Given the description of an element on the screen output the (x, y) to click on. 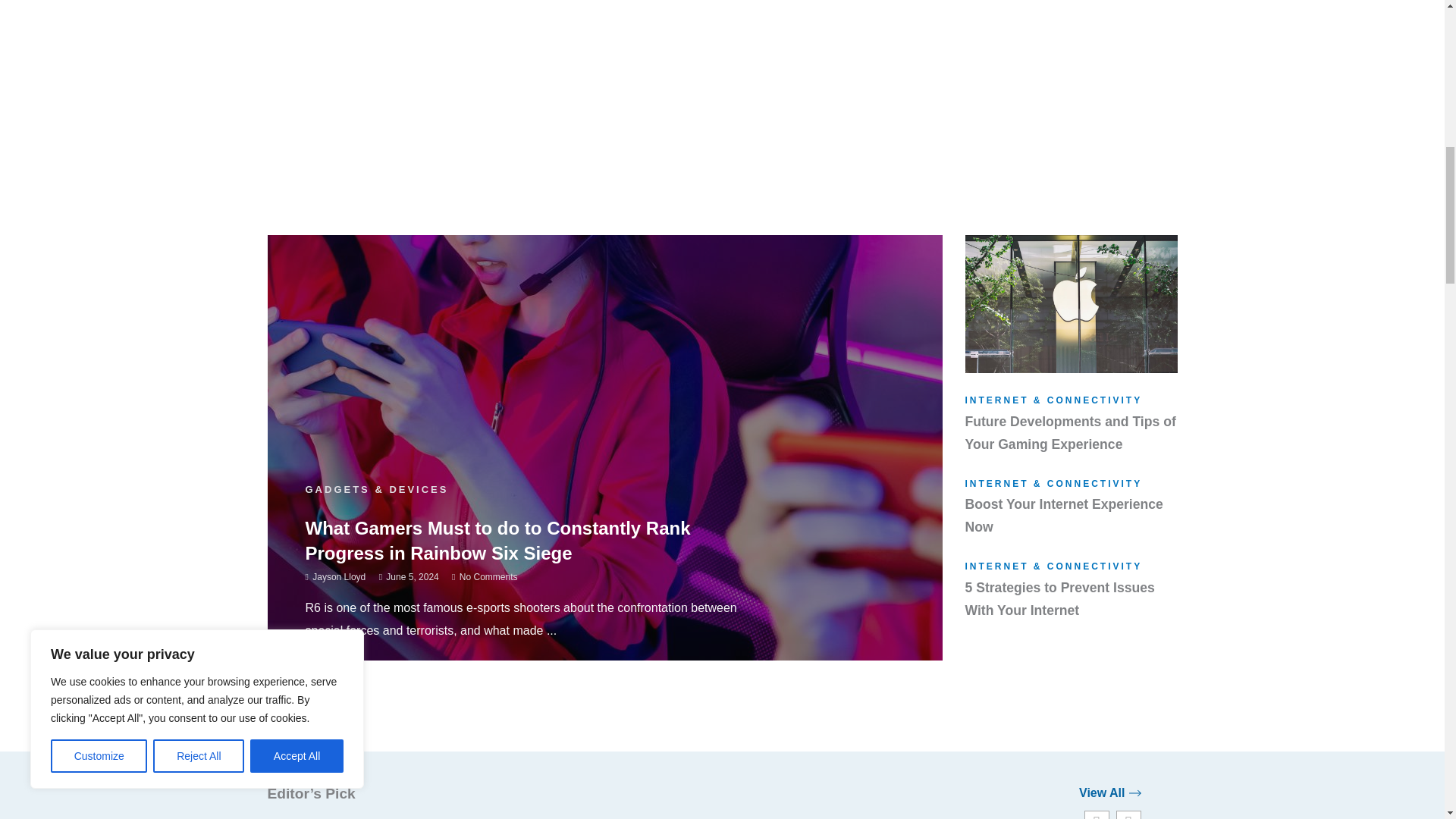
Posts by Jayson Lloyd (339, 576)
